Given the description of an element on the screen output the (x, y) to click on. 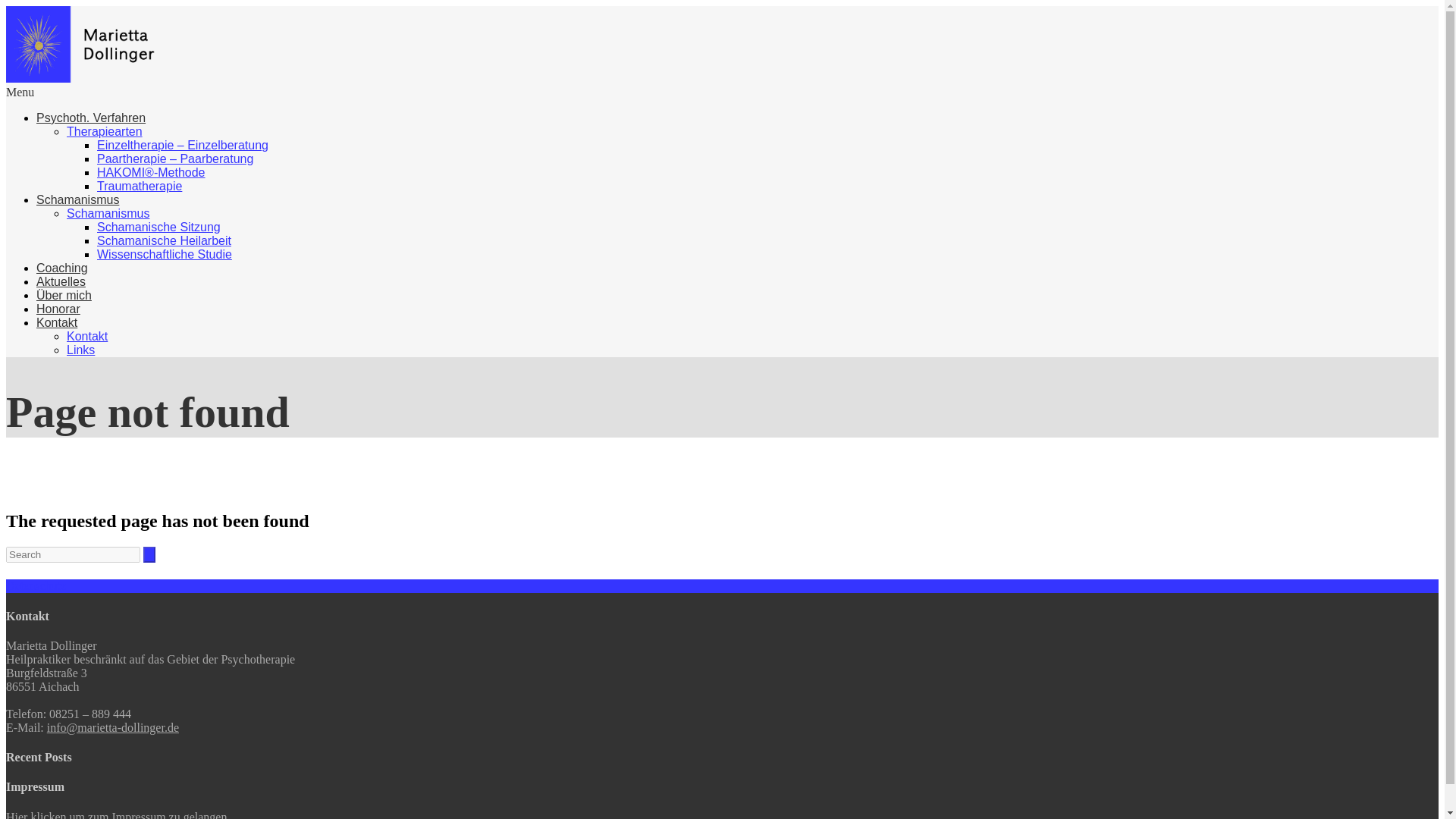
Coaching (61, 267)
Kontakt (56, 322)
Hier klicken um zum Impressum zu gelangen. (117, 814)
Wissenschaftliche Studie (164, 254)
Schamanismus (77, 199)
Schamanische Sitzung (159, 226)
Therapiearten (104, 131)
Honorar (58, 308)
Psychoth. Verfahren (90, 117)
Schamanische Heilarbeit (164, 240)
